Given the description of an element on the screen output the (x, y) to click on. 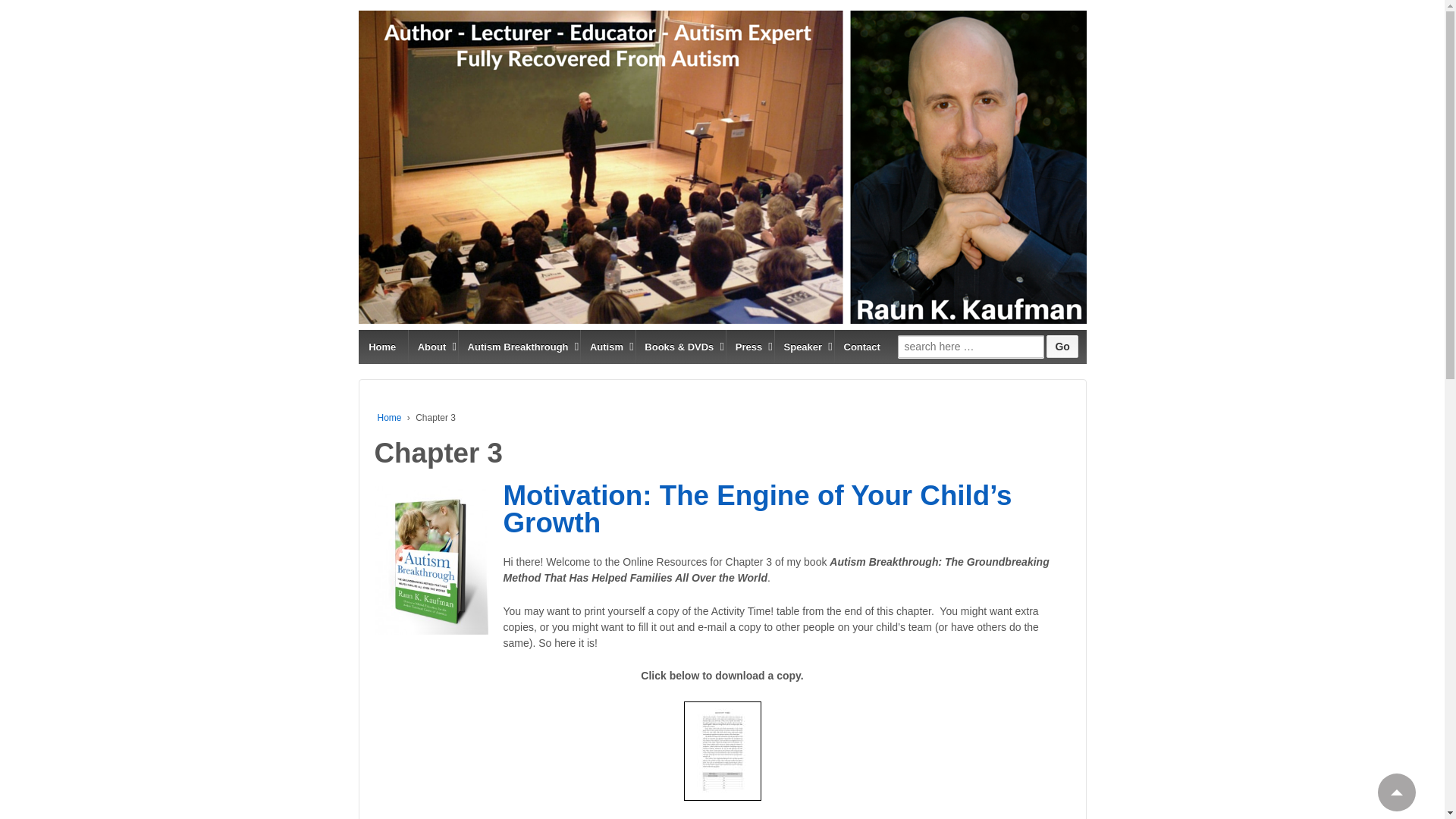
Autism (605, 346)
About (430, 346)
Home (381, 346)
Speaker (802, 346)
Go (1061, 345)
Contact (861, 346)
Scroll to Top (1396, 792)
Go (1061, 345)
Press (748, 346)
Autism Breakthrough (517, 346)
